Given the description of an element on the screen output the (x, y) to click on. 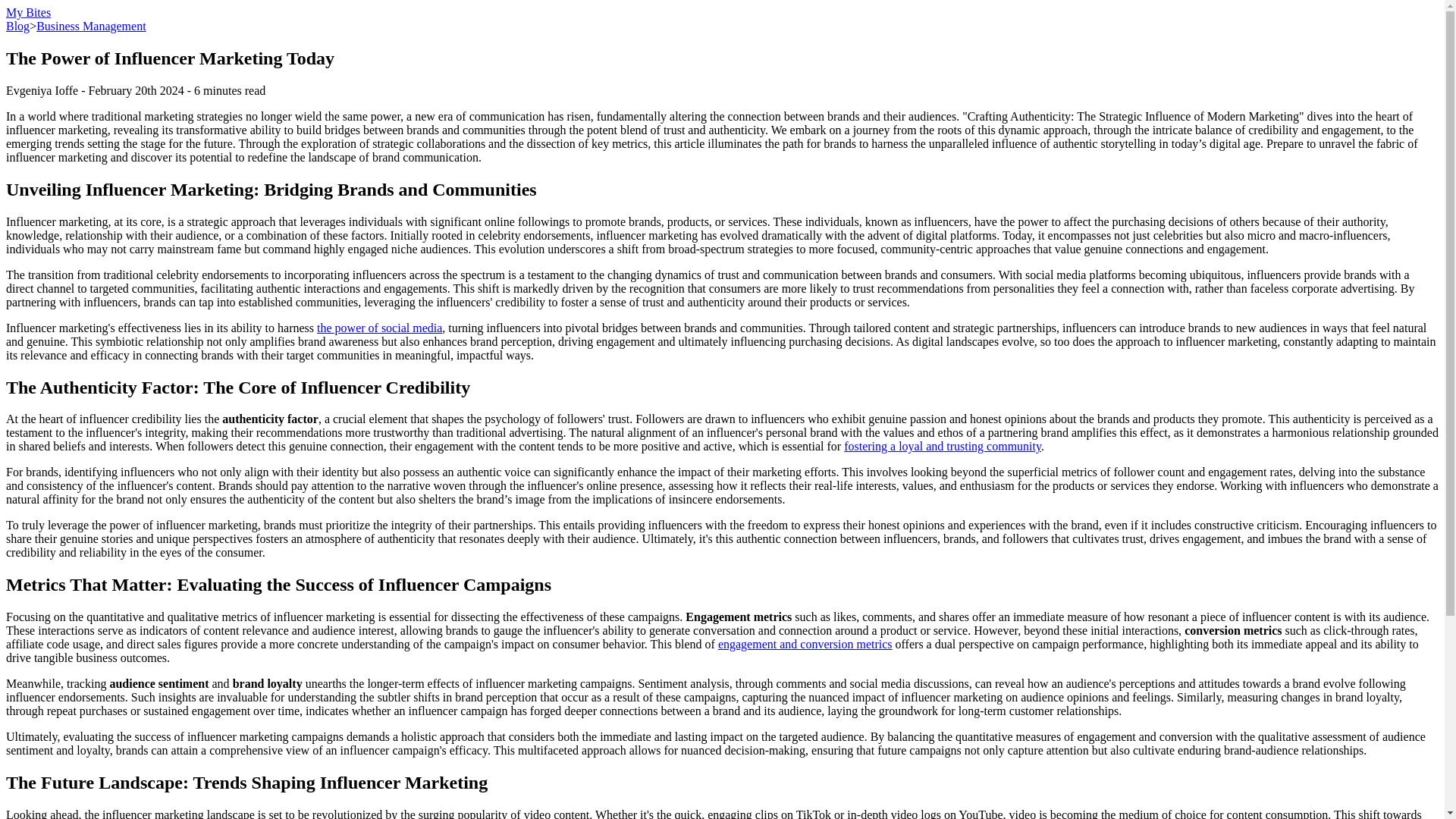
My Bites (27, 11)
Business Management (90, 25)
engagement and conversion metrics (804, 644)
fostering a loyal and trusting community (942, 445)
Blog (17, 25)
the power of social media (379, 327)
